Given the description of an element on the screen output the (x, y) to click on. 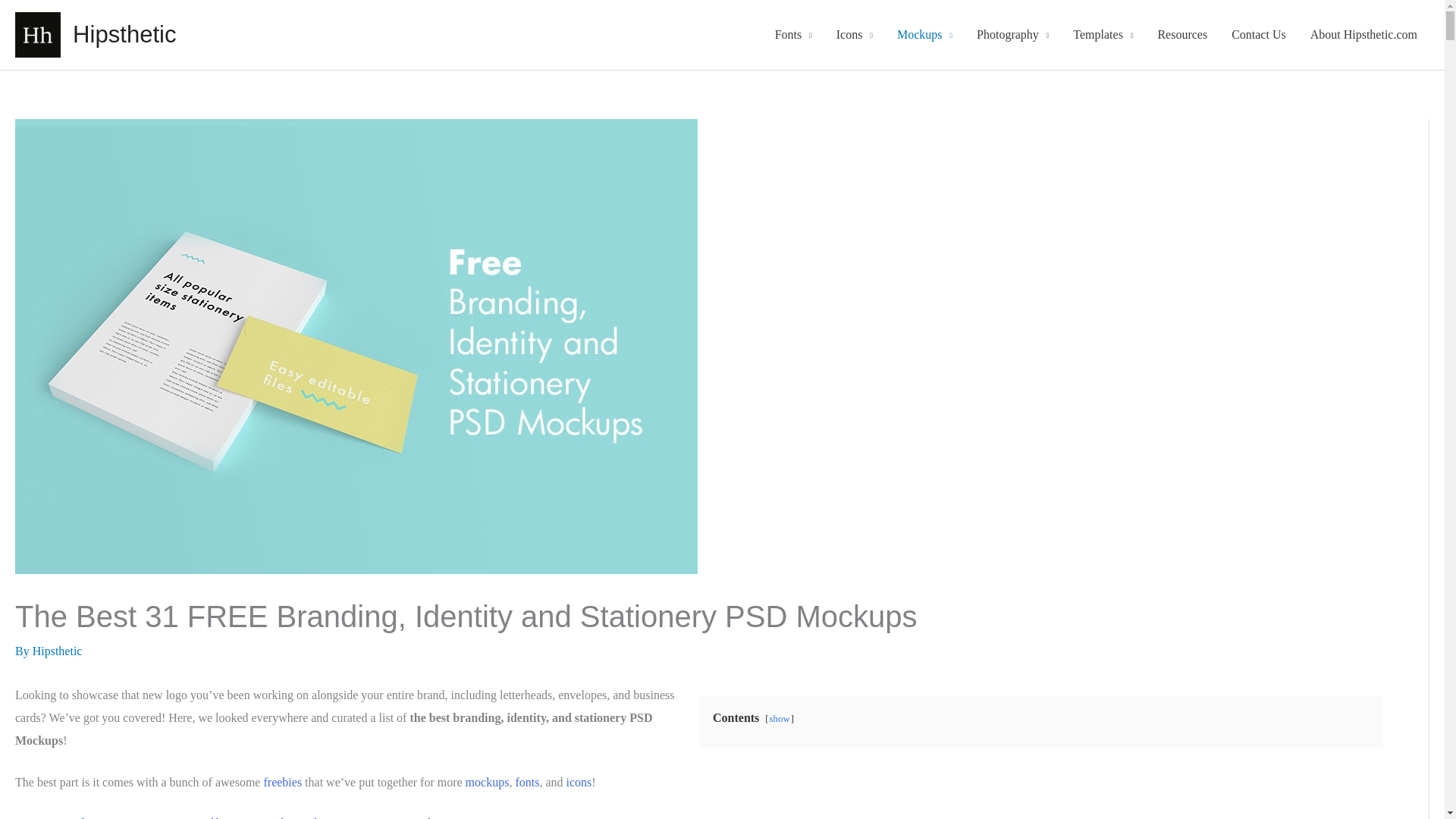
View all posts by Hipsthetic (57, 650)
Mockups (924, 34)
Hipsthetic (124, 34)
Photography (1012, 34)
